Given the description of an element on the screen output the (x, y) to click on. 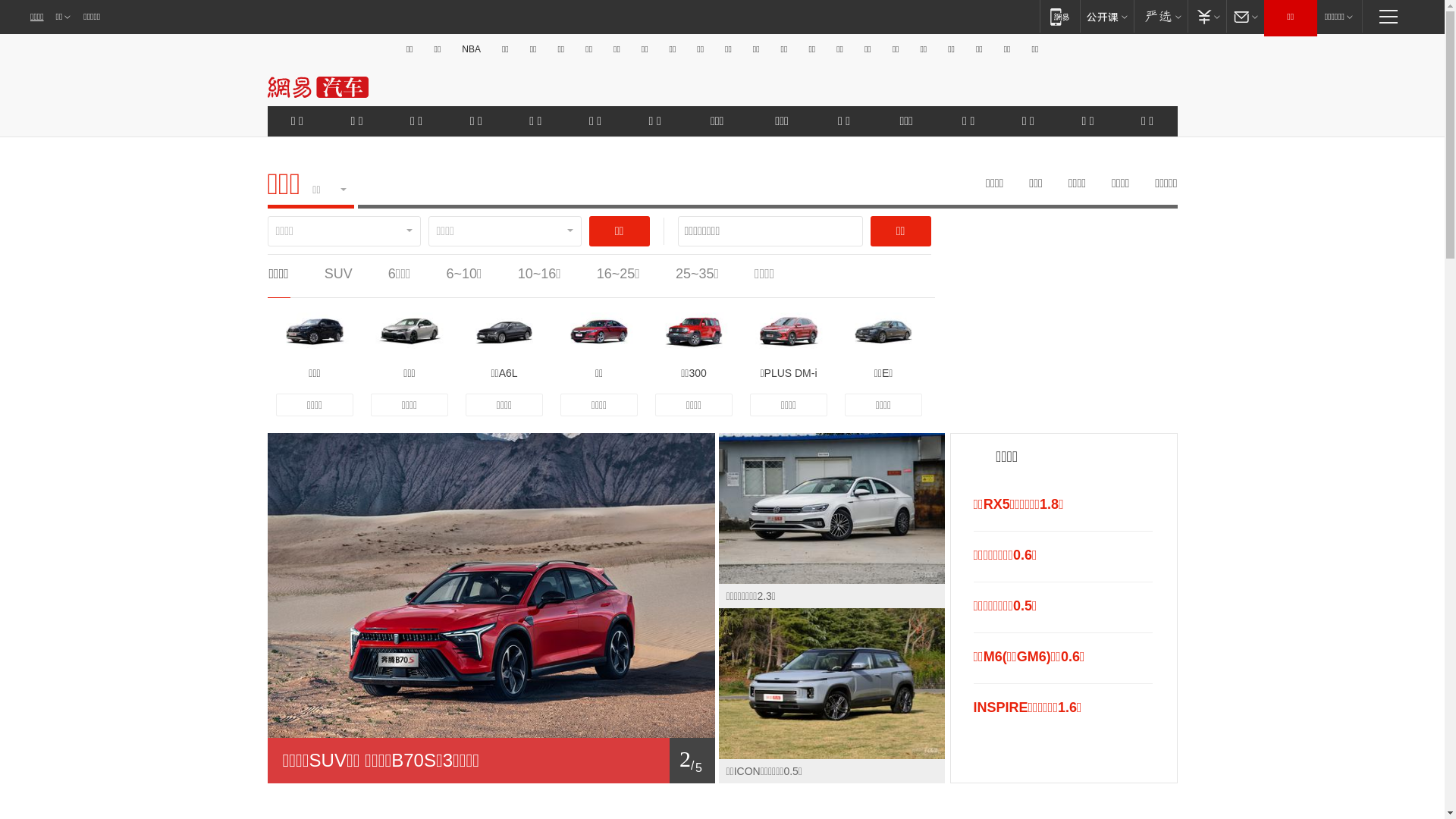
1/ 5 Element type: text (490, 760)
SUV Element type: text (338, 273)
NBA Element type: text (471, 48)
